Given the description of an element on the screen output the (x, y) to click on. 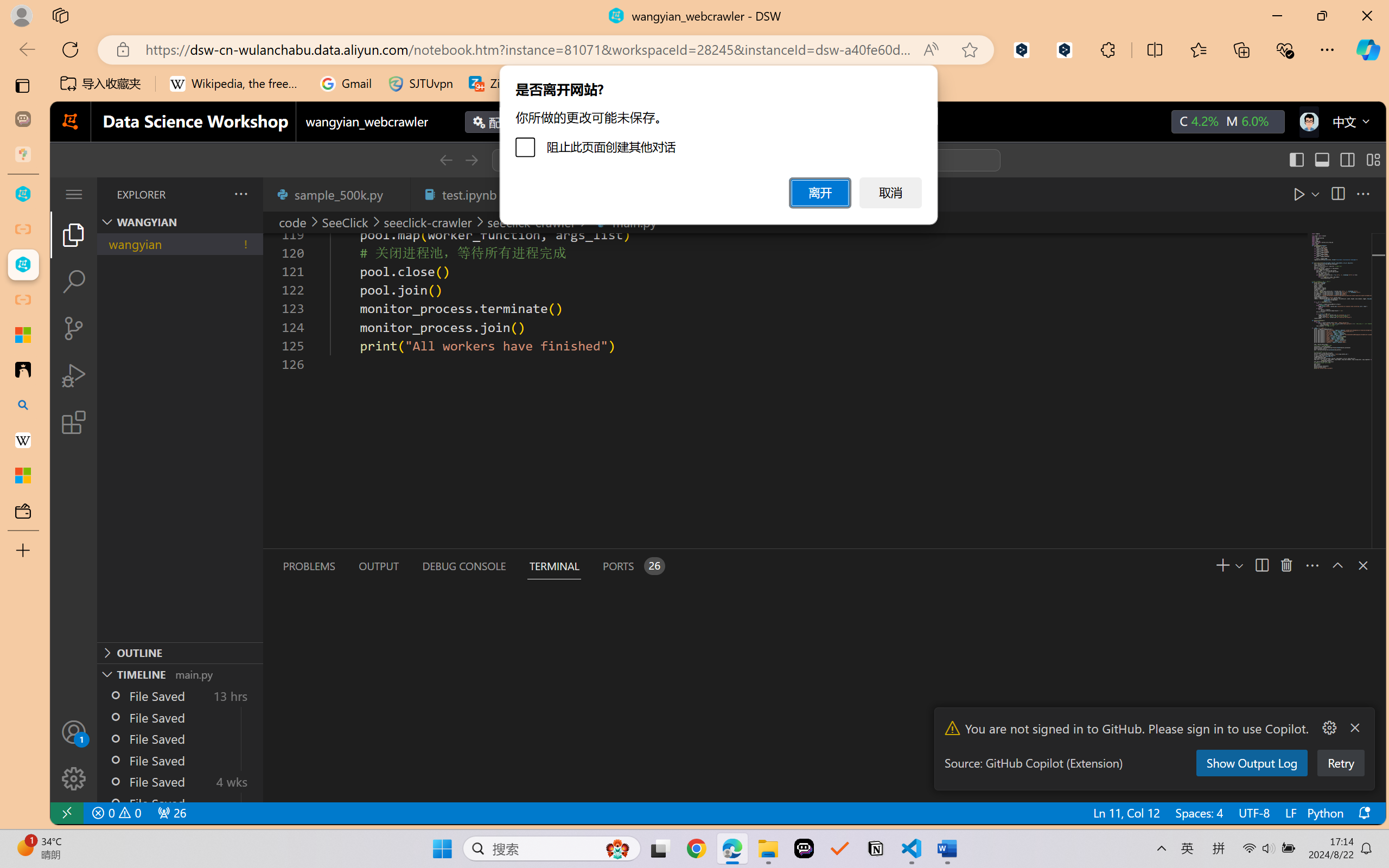
TextBox 61 (599, 464)
